Given the description of an element on the screen output the (x, y) to click on. 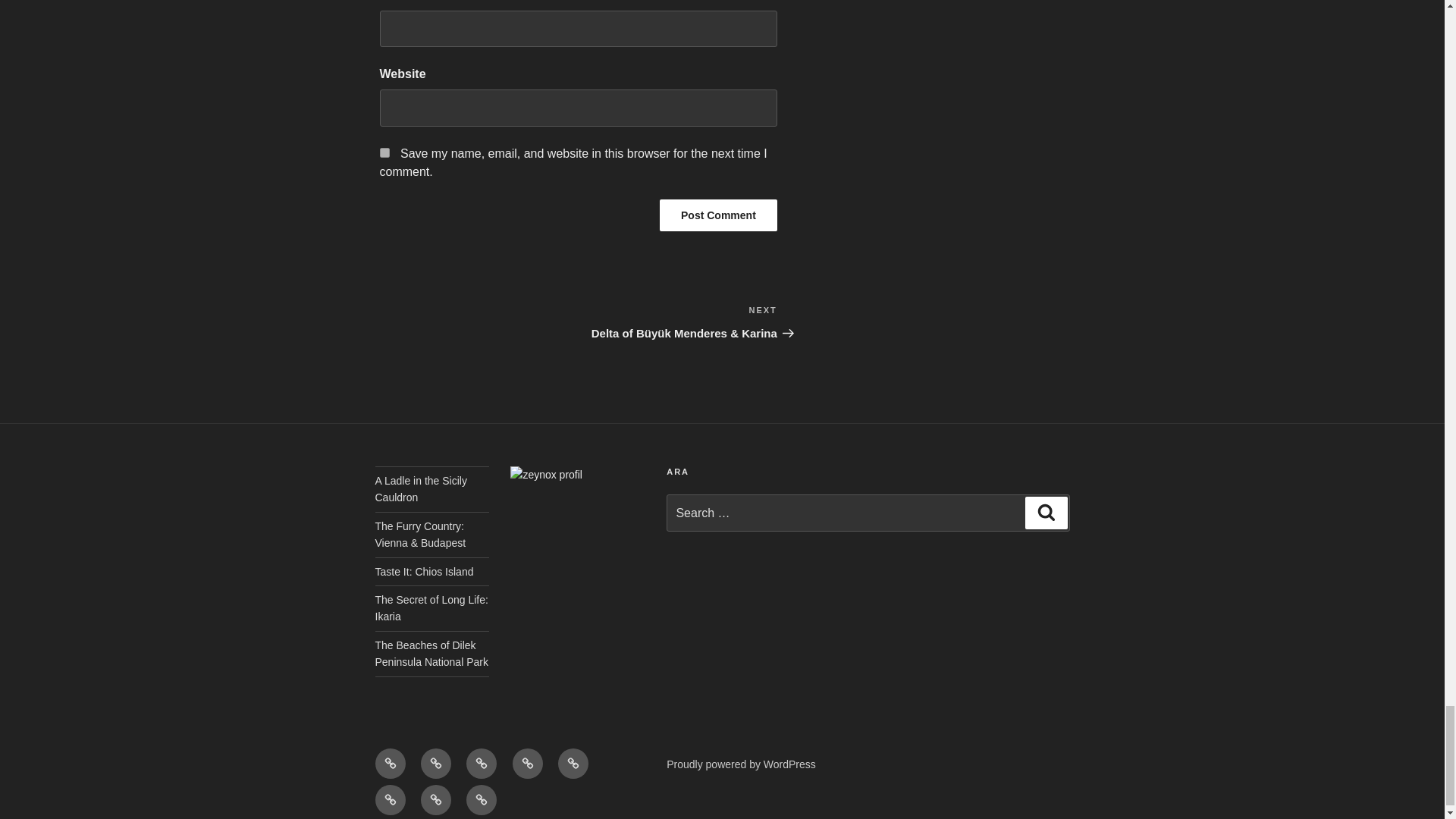
Post Comment (718, 214)
The Secret of Long Life: Ikaria (430, 607)
Post Comment (718, 214)
pictures (527, 763)
The Beaches of Dilek Peninsula National Park (430, 653)
yes (383, 152)
A Ladle in the Sicily Cauldron (419, 489)
identity (435, 763)
Taste It: Chios Island (423, 571)
Search (1046, 512)
